Given the description of an element on the screen output the (x, y) to click on. 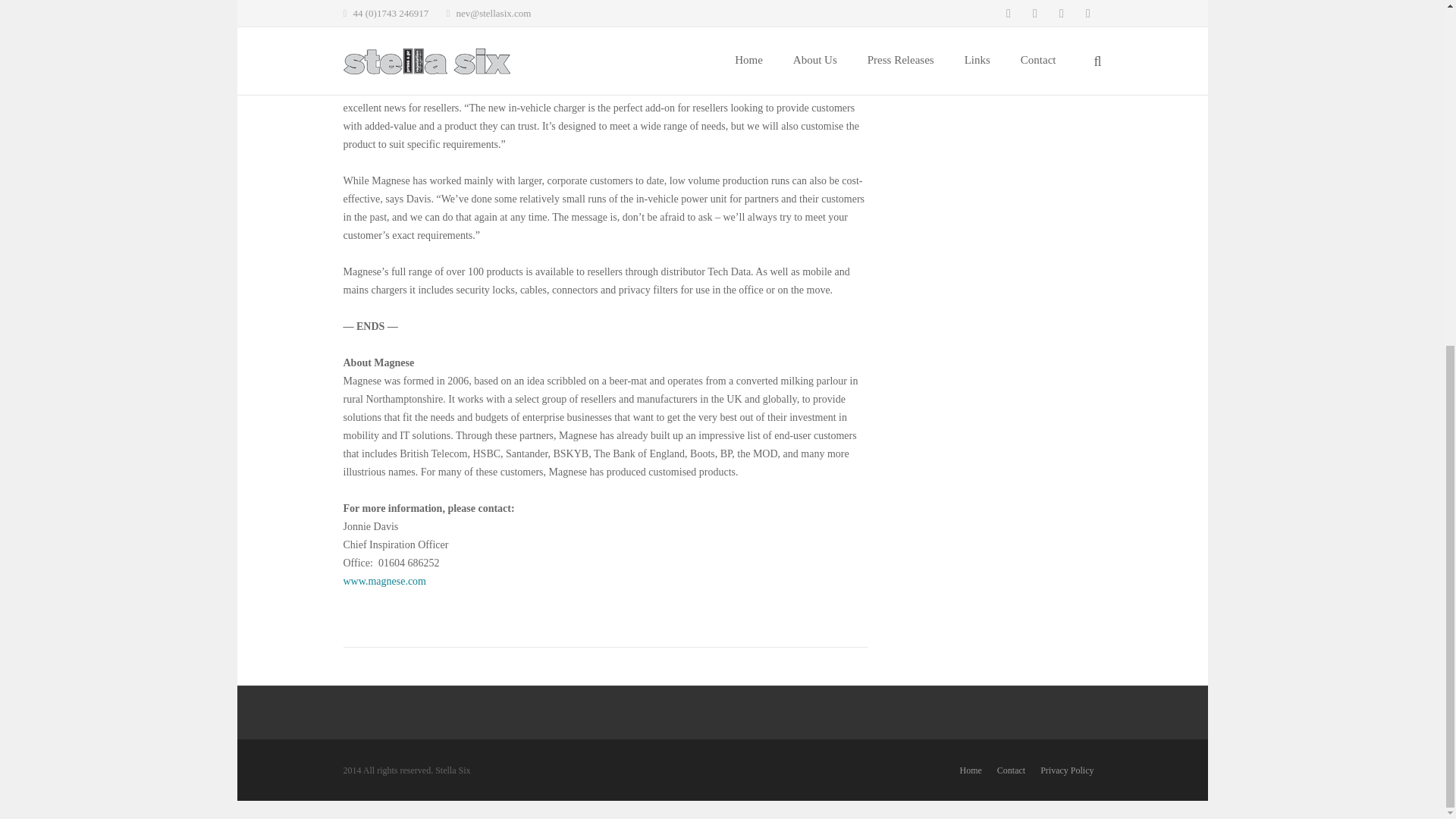
Contact (1011, 769)
Privacy Policy (1067, 769)
www.magnese.com (384, 581)
Home (970, 769)
